Given the description of an element on the screen output the (x, y) to click on. 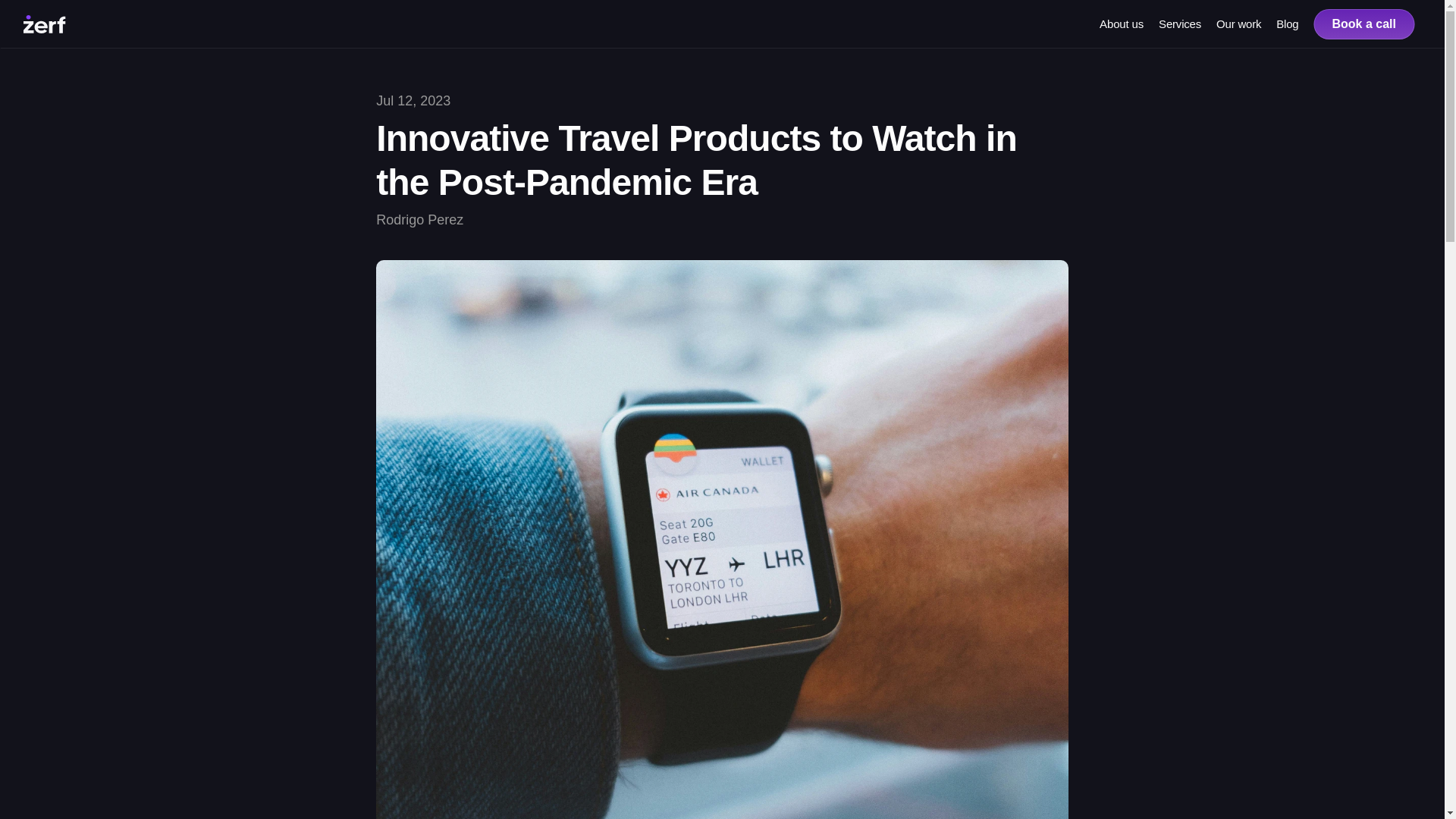
Book a call (1363, 24)
Blog (1287, 23)
Services (1179, 23)
About us (1120, 23)
Our work (1237, 23)
